Given the description of an element on the screen output the (x, y) to click on. 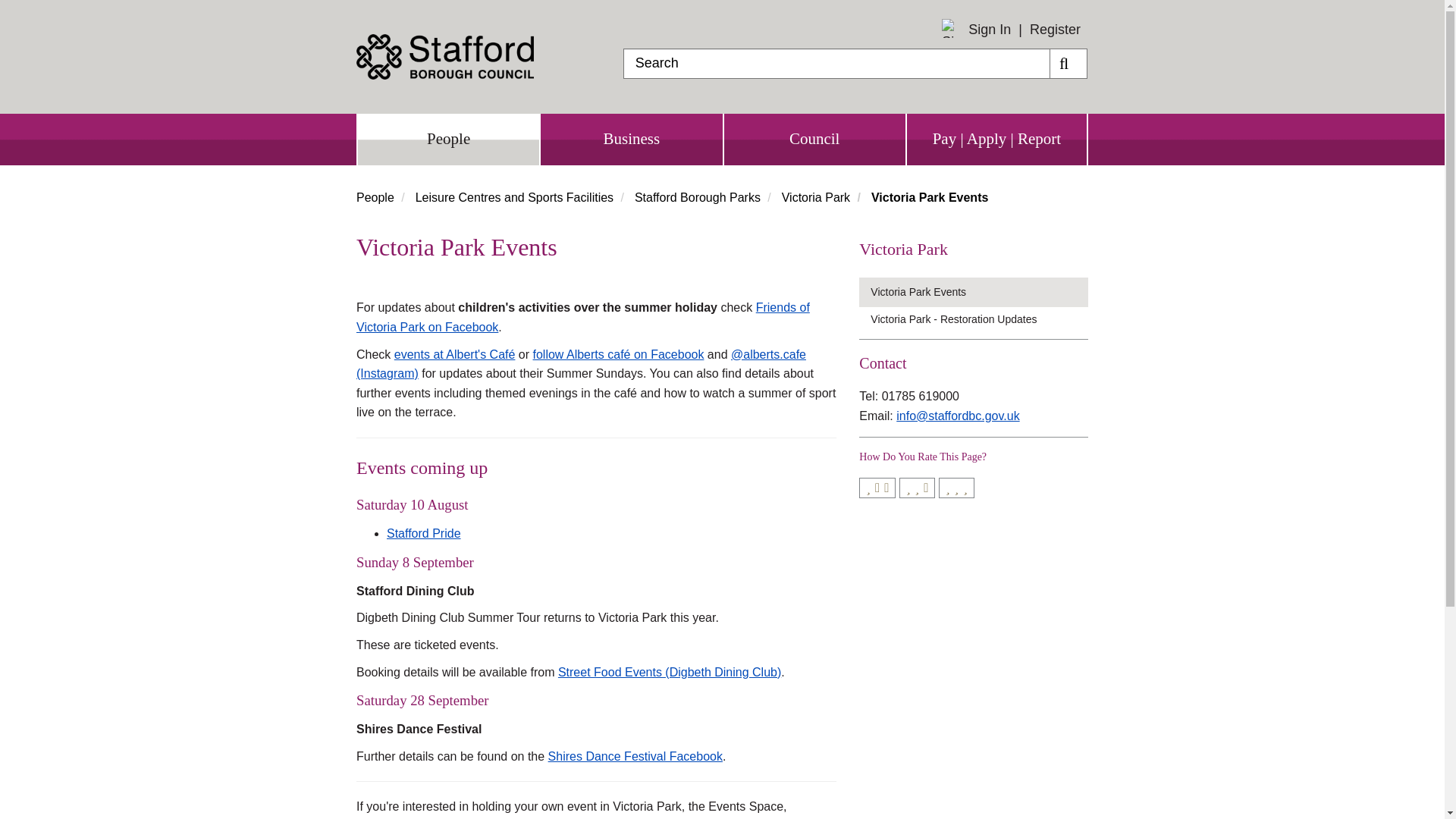
Register (1054, 29)
Council (813, 139)
Victoria Park - Restoration Updates (978, 319)
Victoria Park (973, 249)
People (375, 196)
Sign In (988, 29)
Stafford Borough Parks (697, 196)
Victoria Park (815, 196)
Enter the terms you wish to search for. (836, 63)
